Given the description of an element on the screen output the (x, y) to click on. 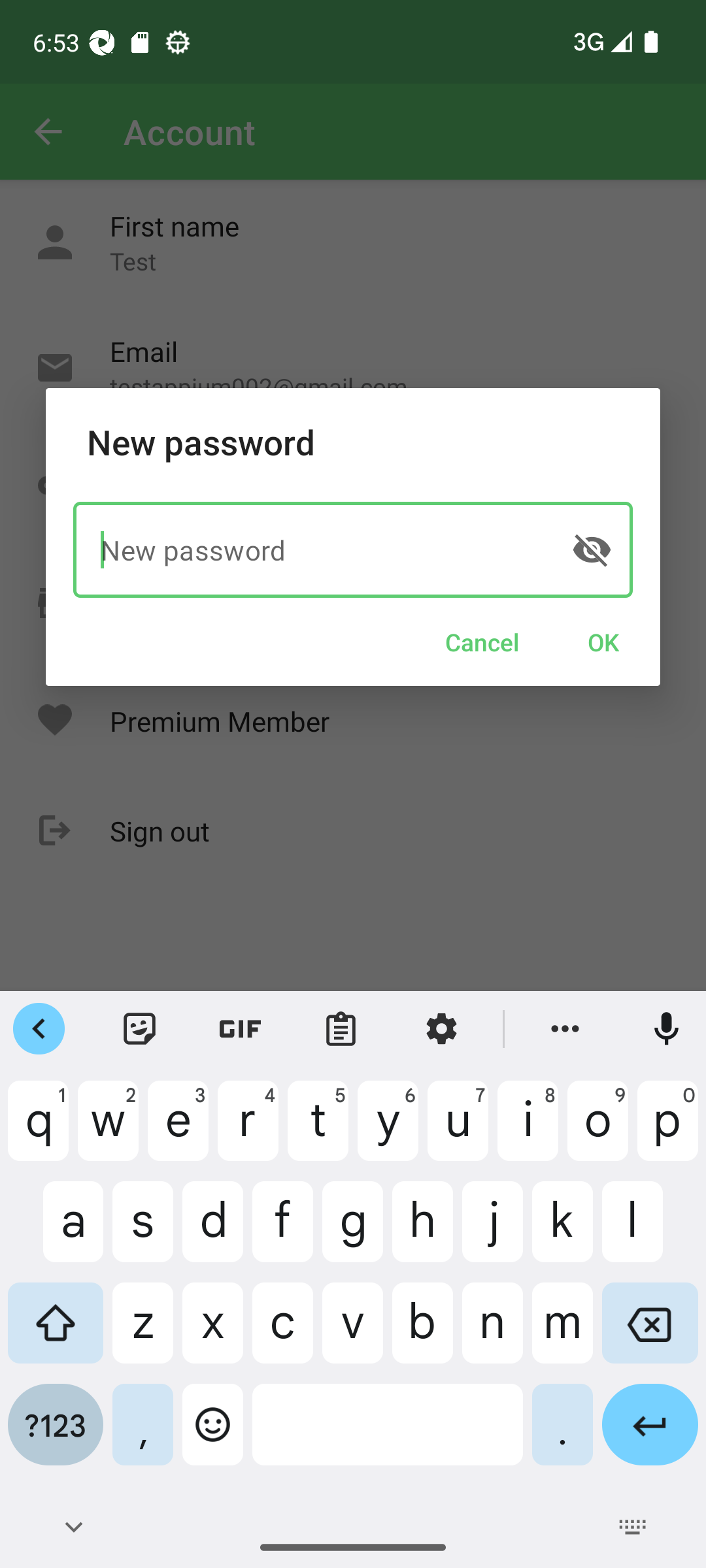
New password (352, 549)
Show password (591, 549)
Cancel (481, 641)
OK (603, 641)
